Given the description of an element on the screen output the (x, y) to click on. 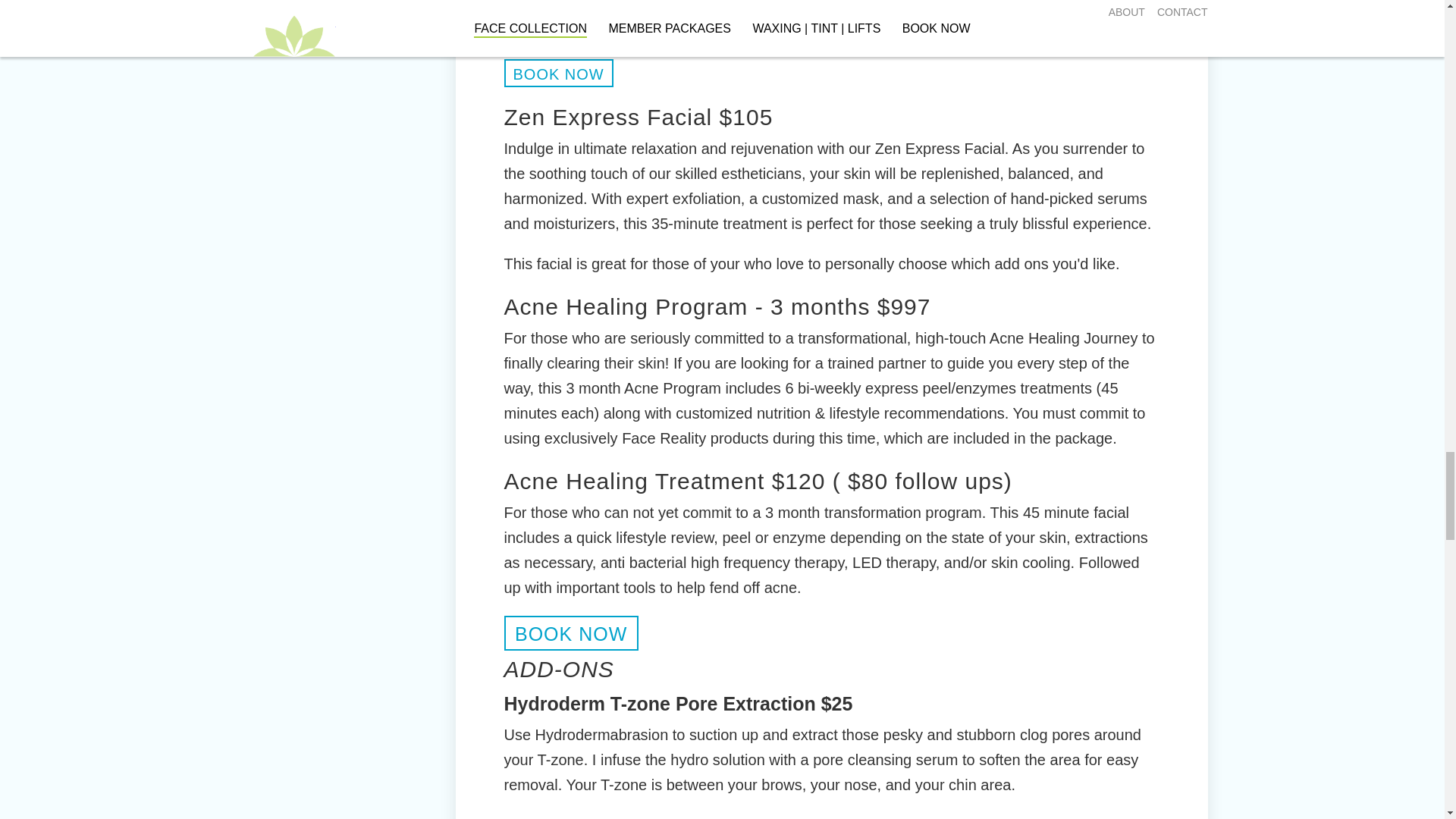
BOOK NOW (557, 72)
BOOK NOW (570, 632)
